Given the description of an element on the screen output the (x, y) to click on. 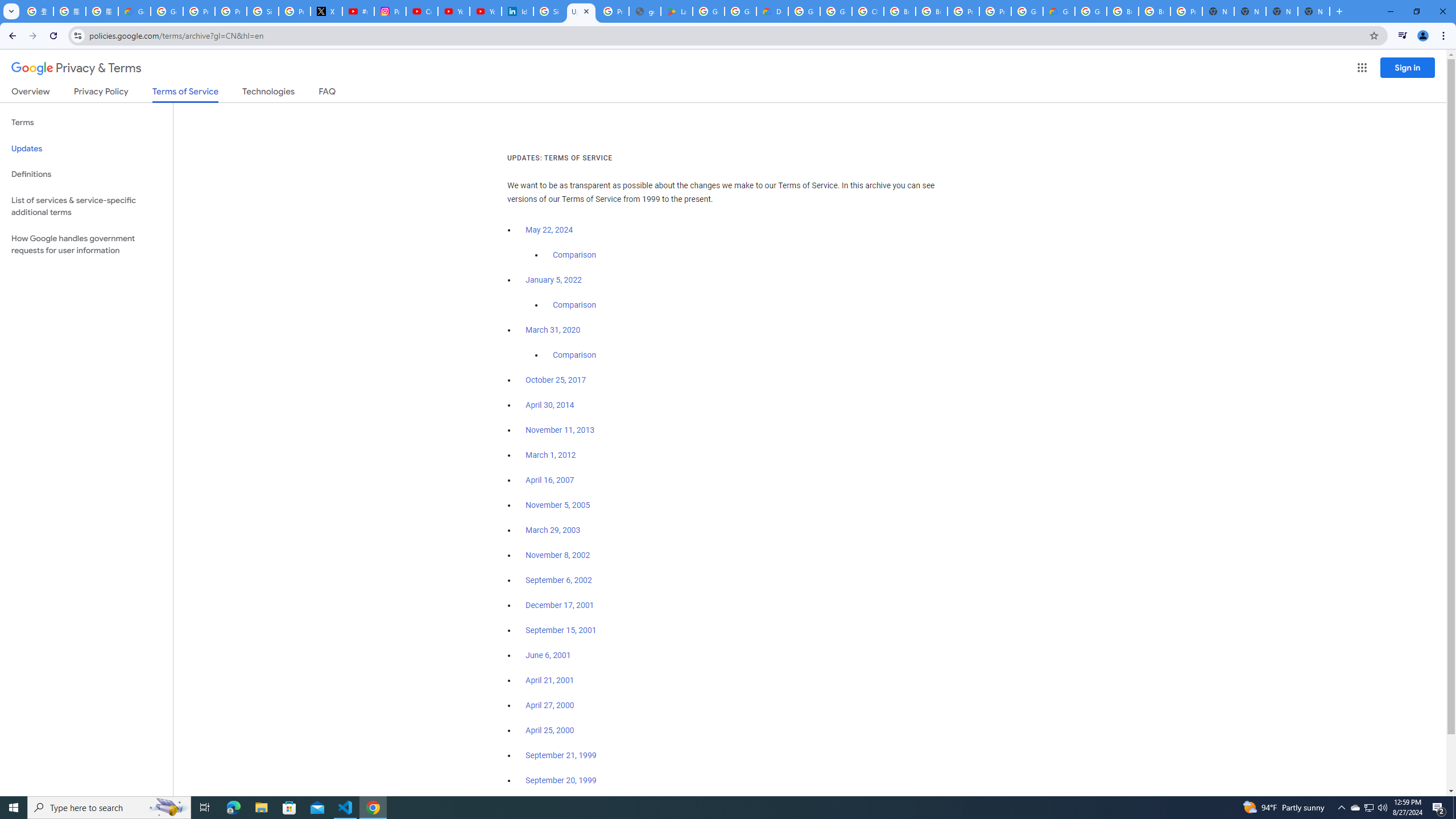
Sign in - Google Accounts (549, 11)
September 15, 2001 (560, 629)
September 20, 1999 (560, 780)
December 17, 2001 (559, 605)
April 30, 2014 (550, 405)
